Given the description of an element on the screen output the (x, y) to click on. 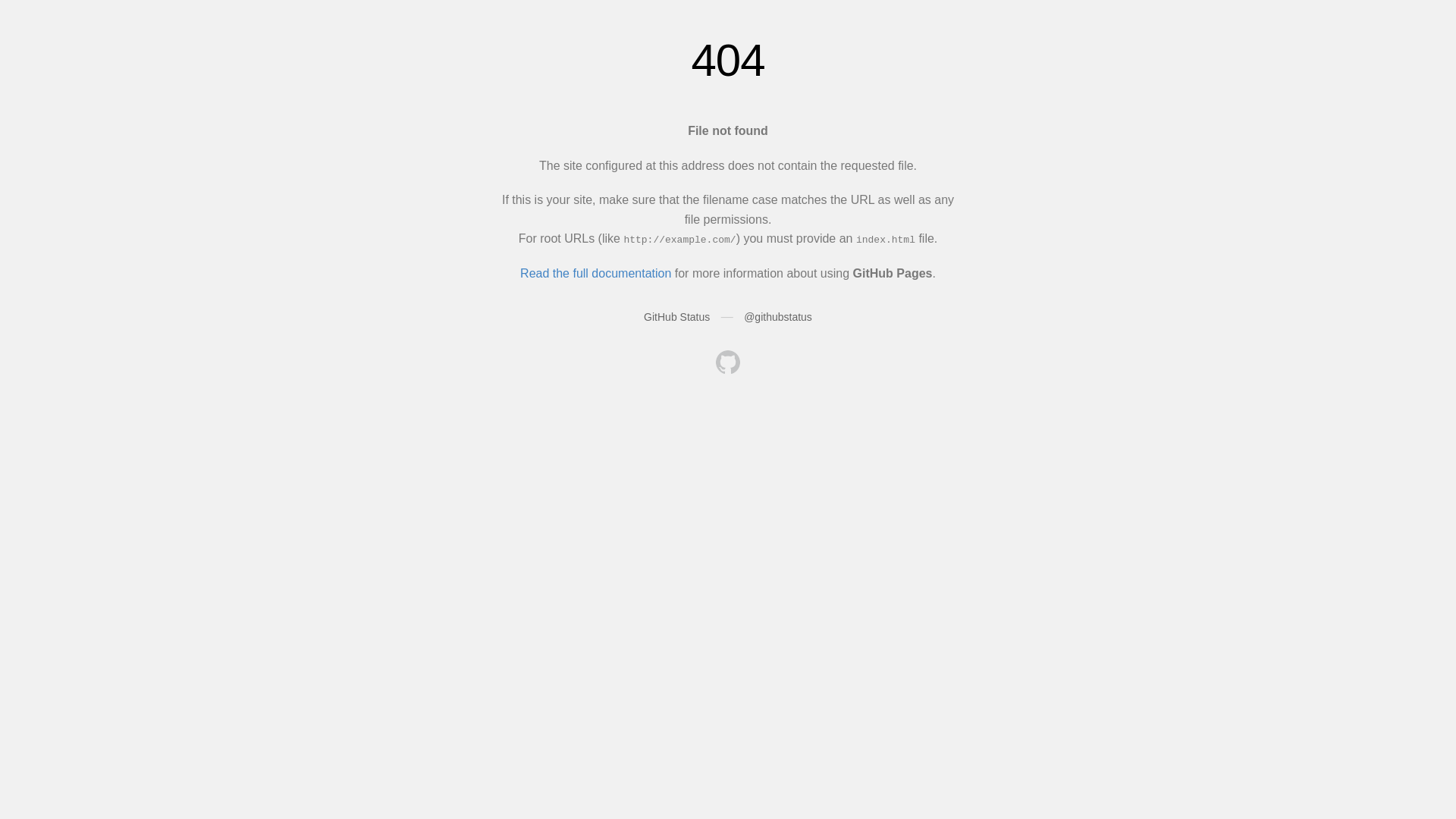
Read the full documentation Element type: text (595, 272)
@githubstatus Element type: text (777, 316)
GitHub Status Element type: text (676, 316)
